Given the description of an element on the screen output the (x, y) to click on. 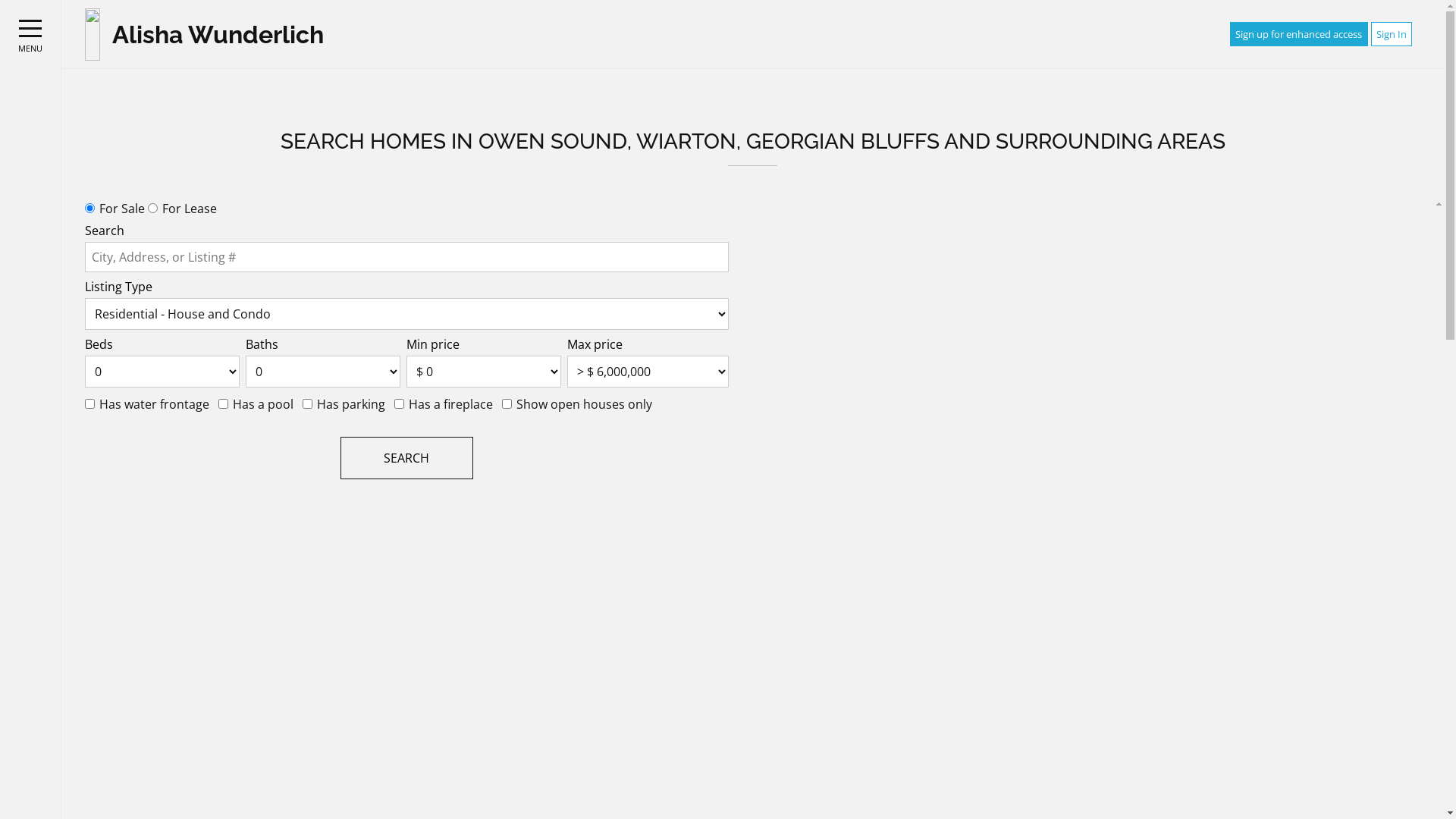
Search Element type: text (406, 457)
Home Element type: hover (92, 33)
